Given the description of an element on the screen output the (x, y) to click on. 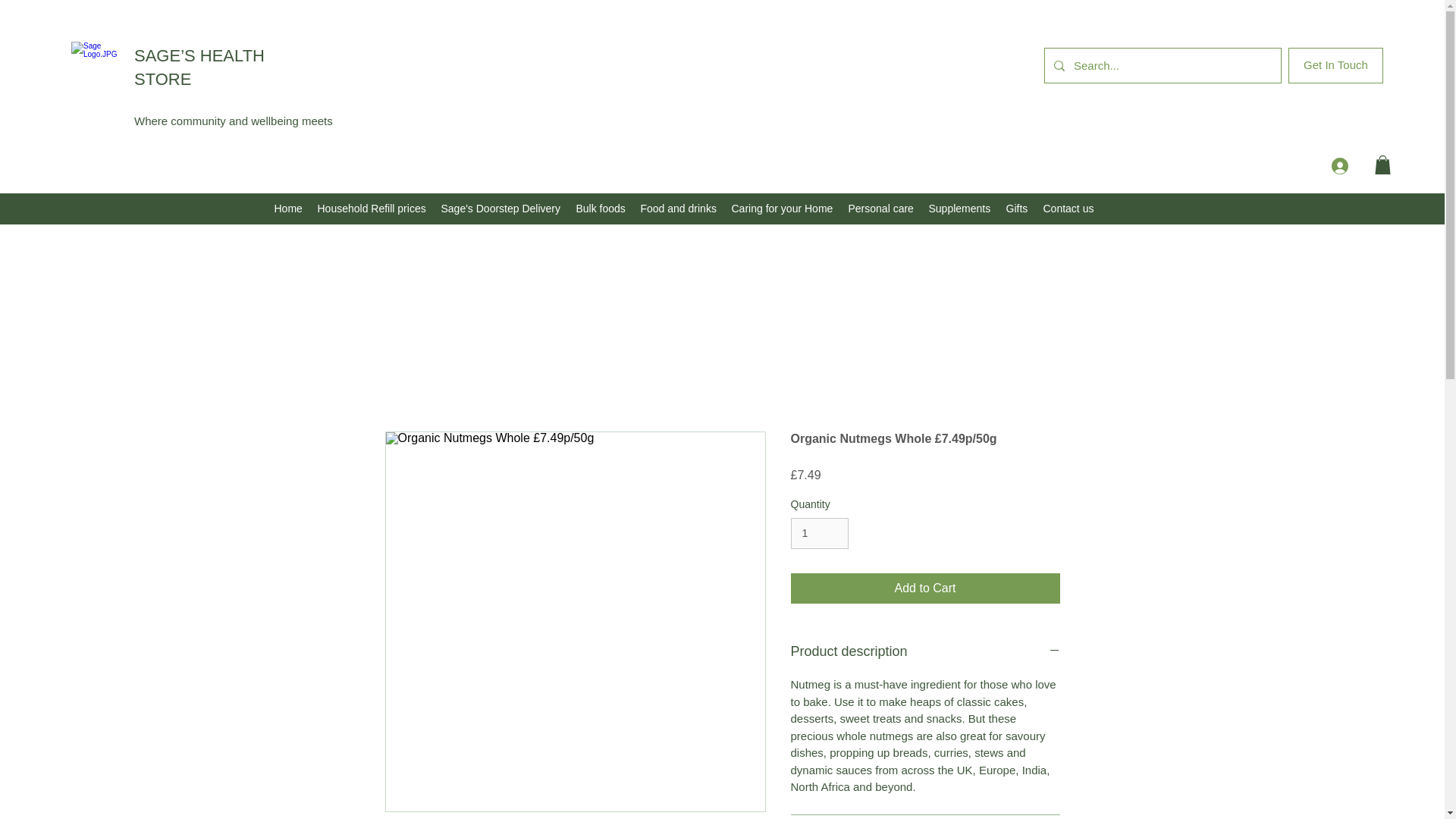
Household Refill prices (370, 209)
Sage's Doorstep Delivery (501, 209)
Log In (1359, 165)
Get In Touch (1335, 65)
1 (818, 532)
Home (288, 209)
